Given the description of an element on the screen output the (x, y) to click on. 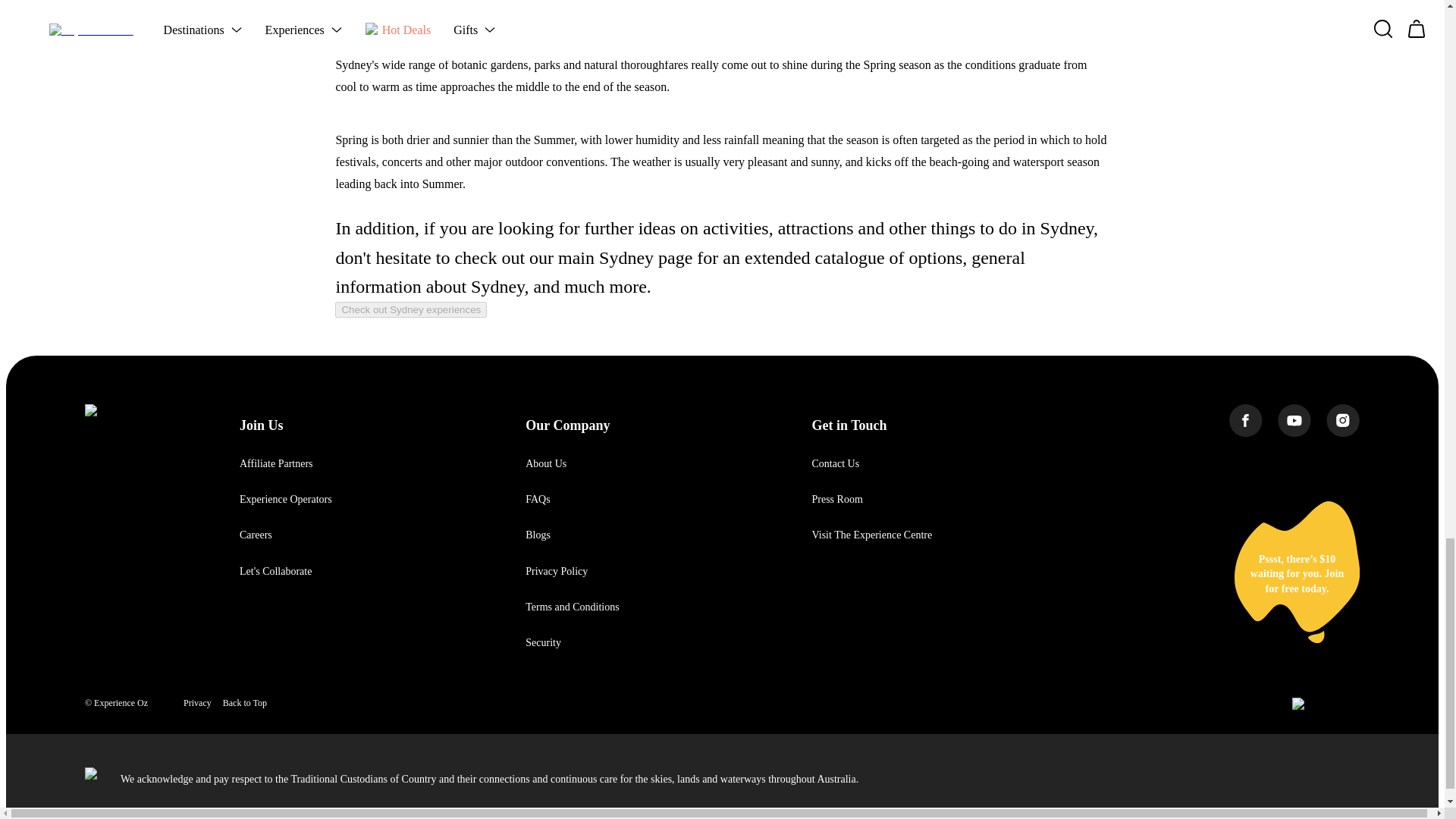
Blogs (537, 534)
Affiliate Partners (276, 463)
Visit The Experience Centre (870, 534)
Privacy (197, 702)
Careers (256, 534)
Terms and Conditions (571, 606)
About Us (545, 463)
FAQs (537, 499)
Press Room (835, 499)
Check out Sydney experiences (410, 309)
Experience Operators (285, 499)
Privacy Policy (556, 571)
Let's Collaborate (275, 571)
Security (542, 642)
Contact Us (834, 463)
